Given the description of an element on the screen output the (x, y) to click on. 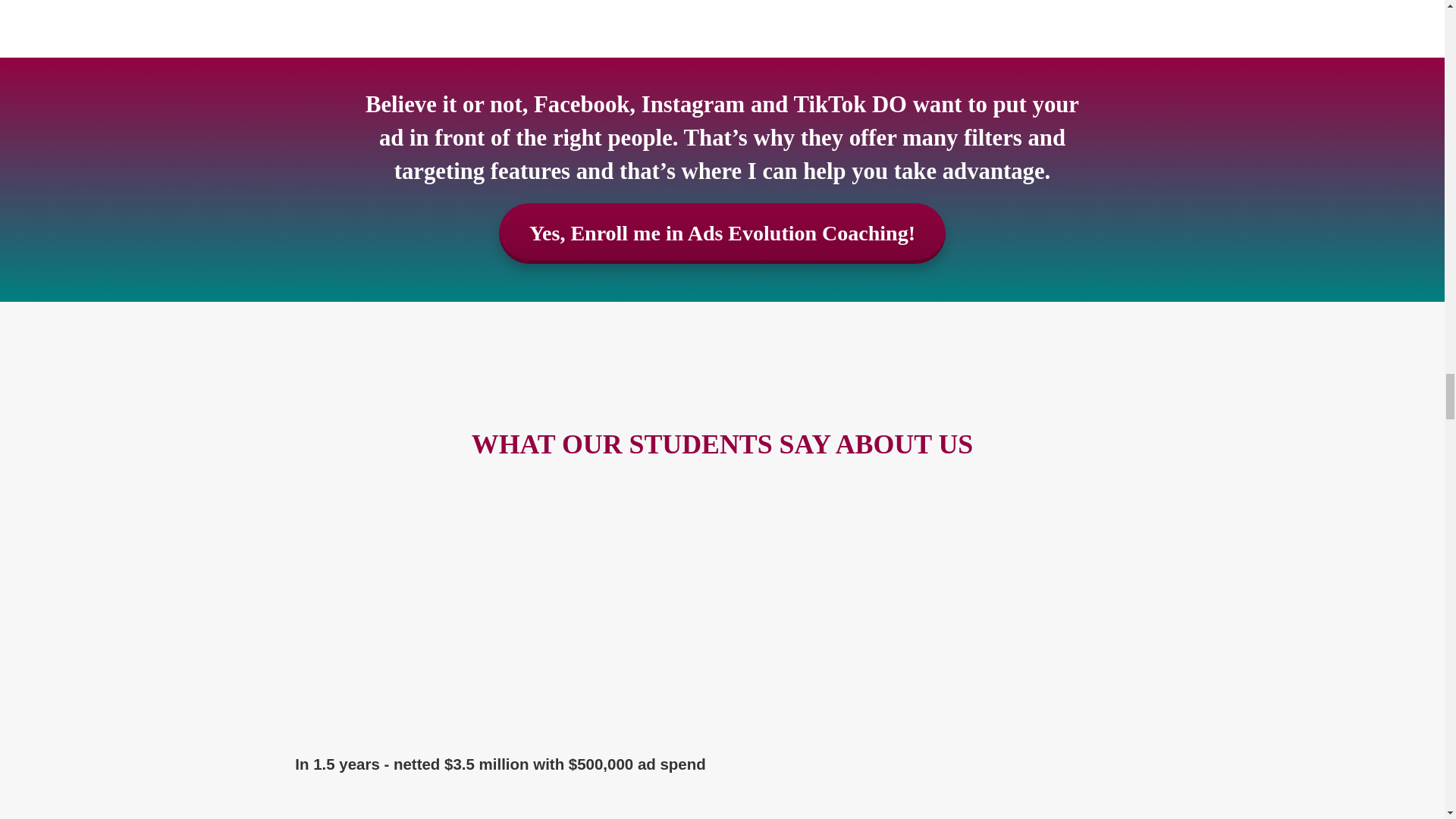
Yes, Enroll me in Ads Evolution Coaching! (721, 233)
